Given the description of an element on the screen output the (x, y) to click on. 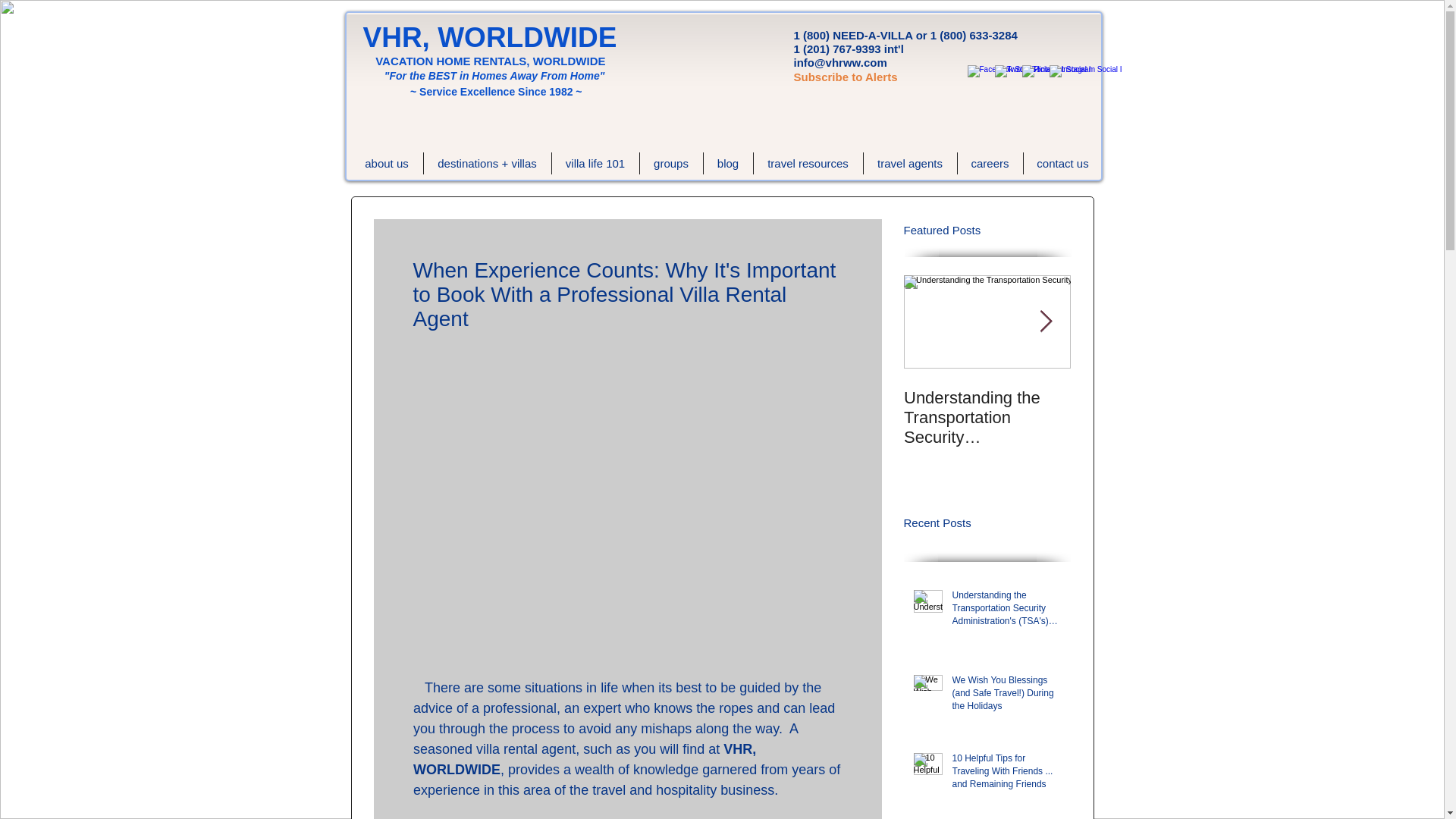
about us (386, 163)
groups (671, 163)
travel resources (808, 163)
contact us (1062, 163)
travel agents (909, 163)
blog (727, 163)
careers (989, 163)
Subscribe to Alerts (844, 76)
villa life 101 (595, 163)
